Given the description of an element on the screen output the (x, y) to click on. 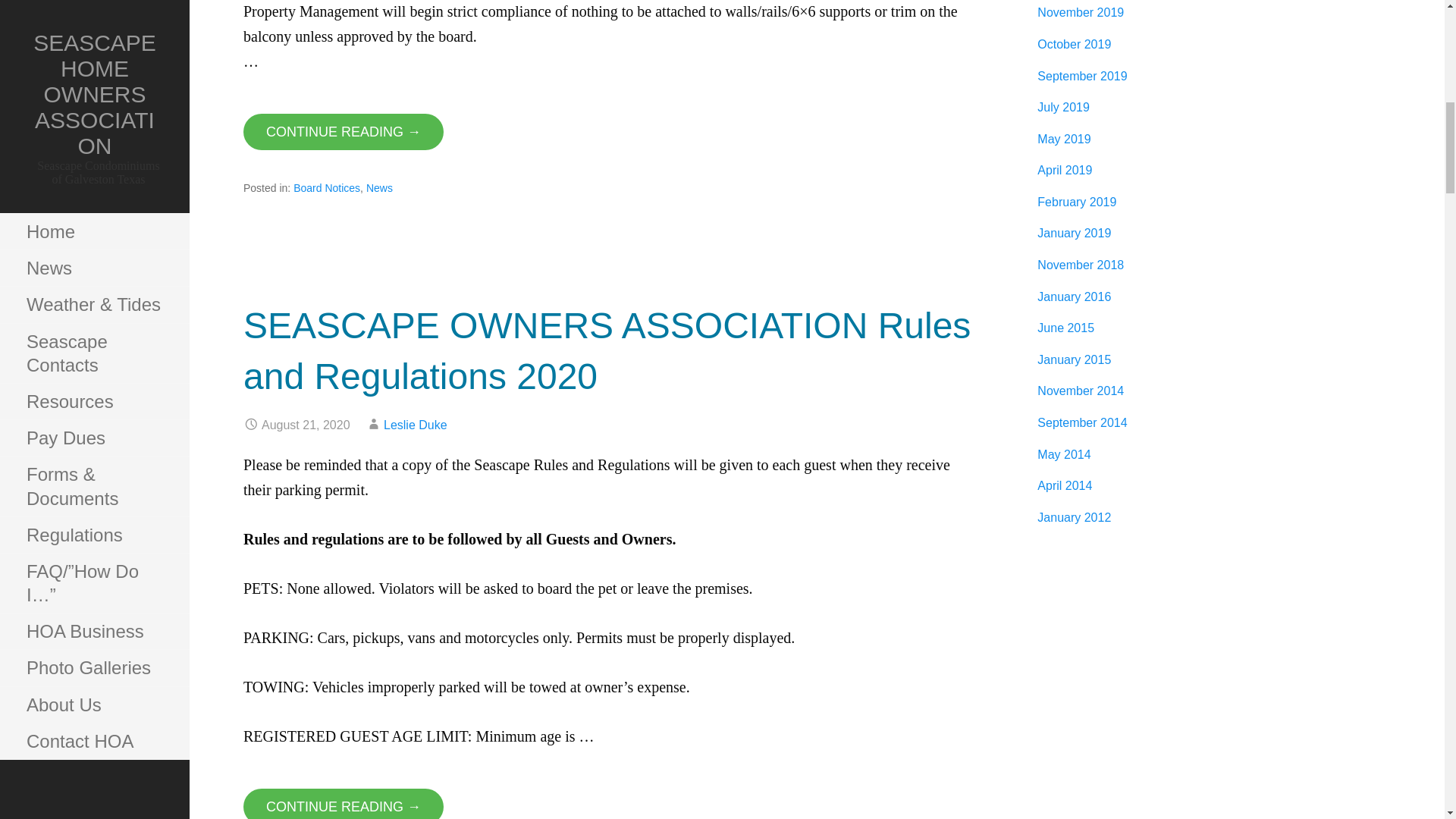
SEASCAPE OWNERS ASSOCIATION Rules and Regulations 2020 (607, 350)
Leslie Duke (415, 424)
Posts by Leslie Duke (415, 424)
News (379, 187)
Board Notices (326, 187)
